Given the description of an element on the screen output the (x, y) to click on. 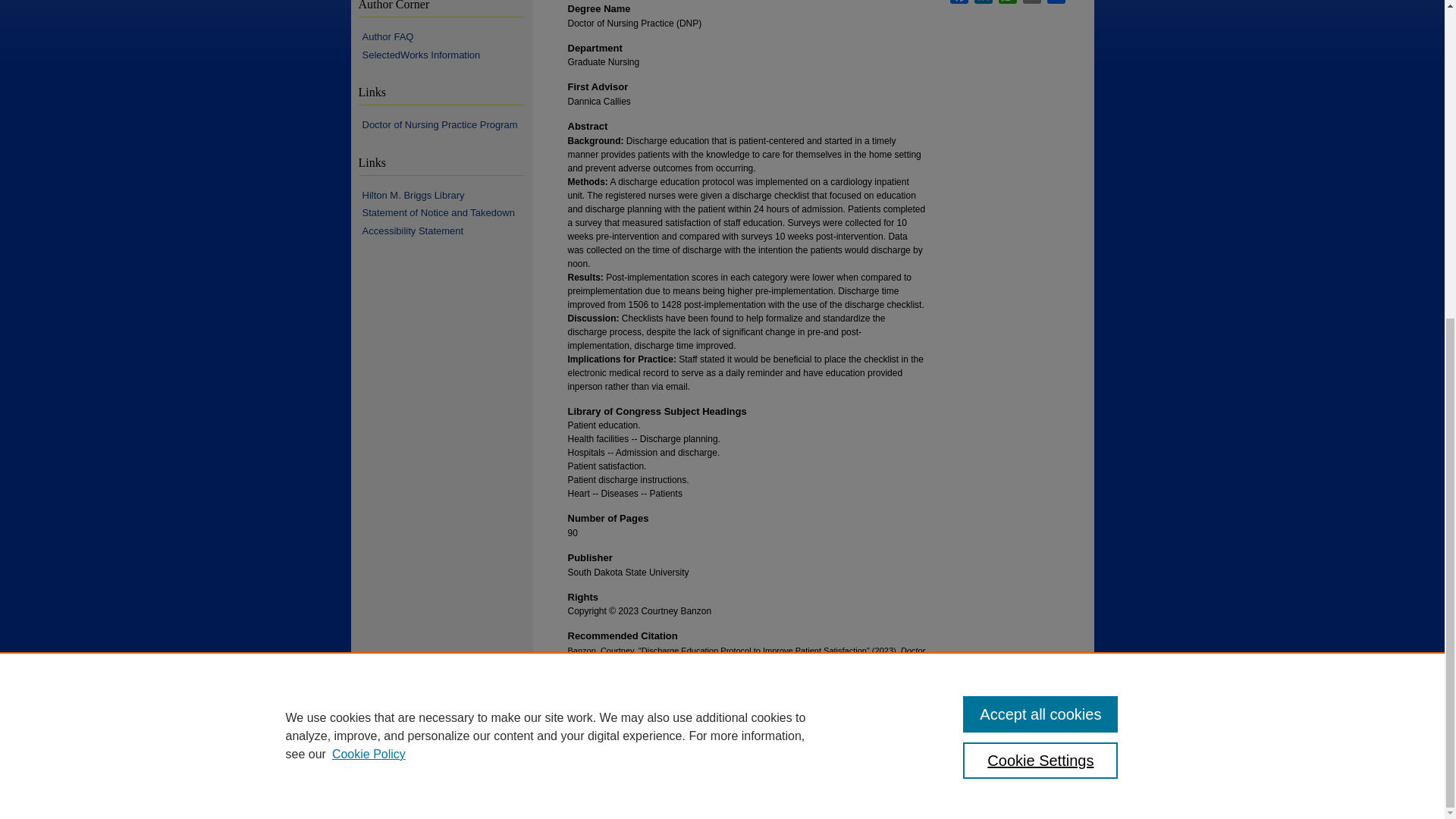
Email (1031, 2)
SelectedWorks Information (447, 55)
Author FAQ (447, 37)
Share (1055, 2)
LinkedIn (982, 2)
WhatsApp (1006, 2)
Facebook (958, 2)
